Given the description of an element on the screen output the (x, y) to click on. 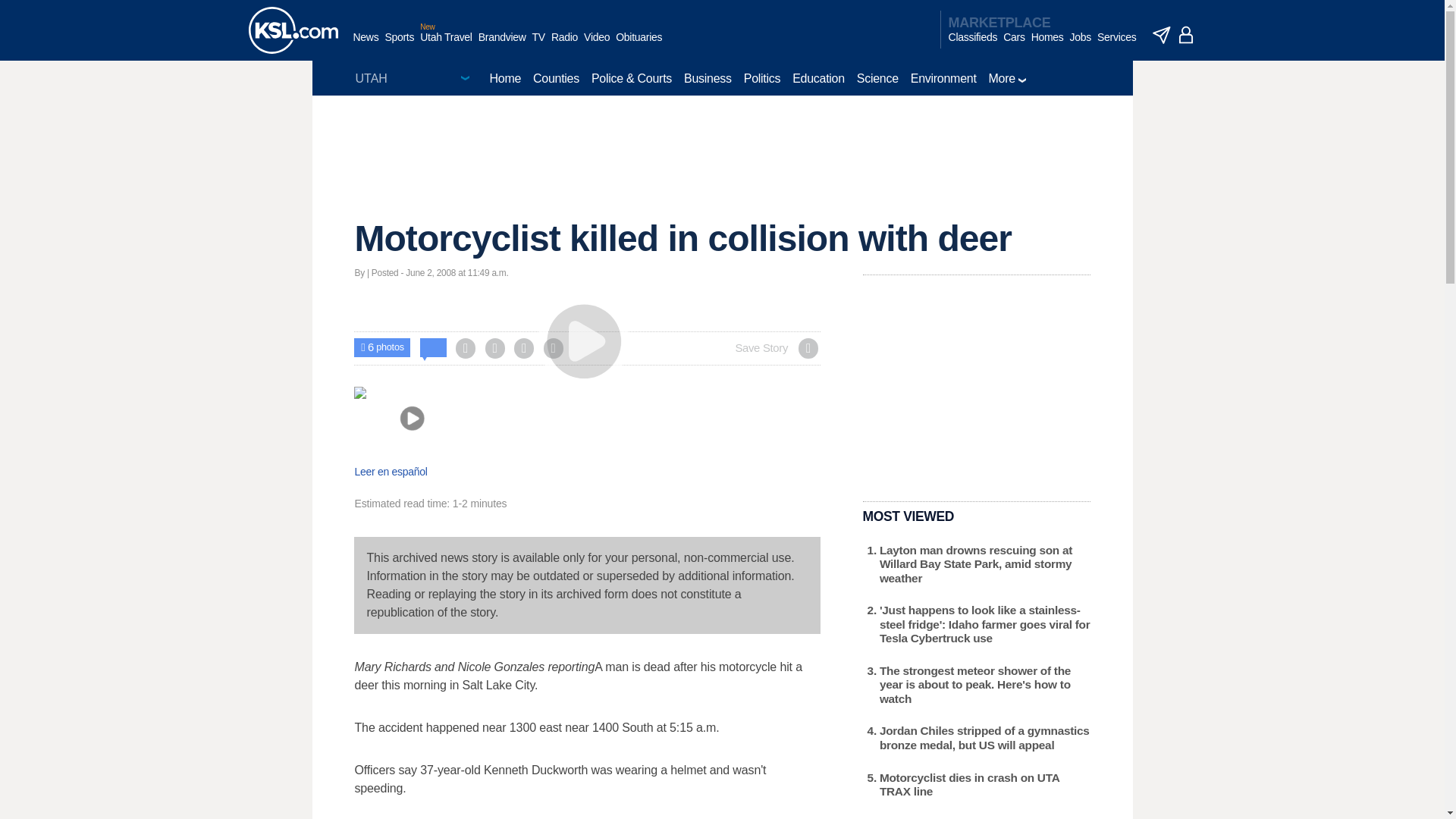
account - logged out (1185, 34)
KSL homepage (292, 30)
Brandview (502, 45)
Utah Travel (445, 45)
KSL homepage (292, 29)
Sports (398, 45)
